Given the description of an element on the screen output the (x, y) to click on. 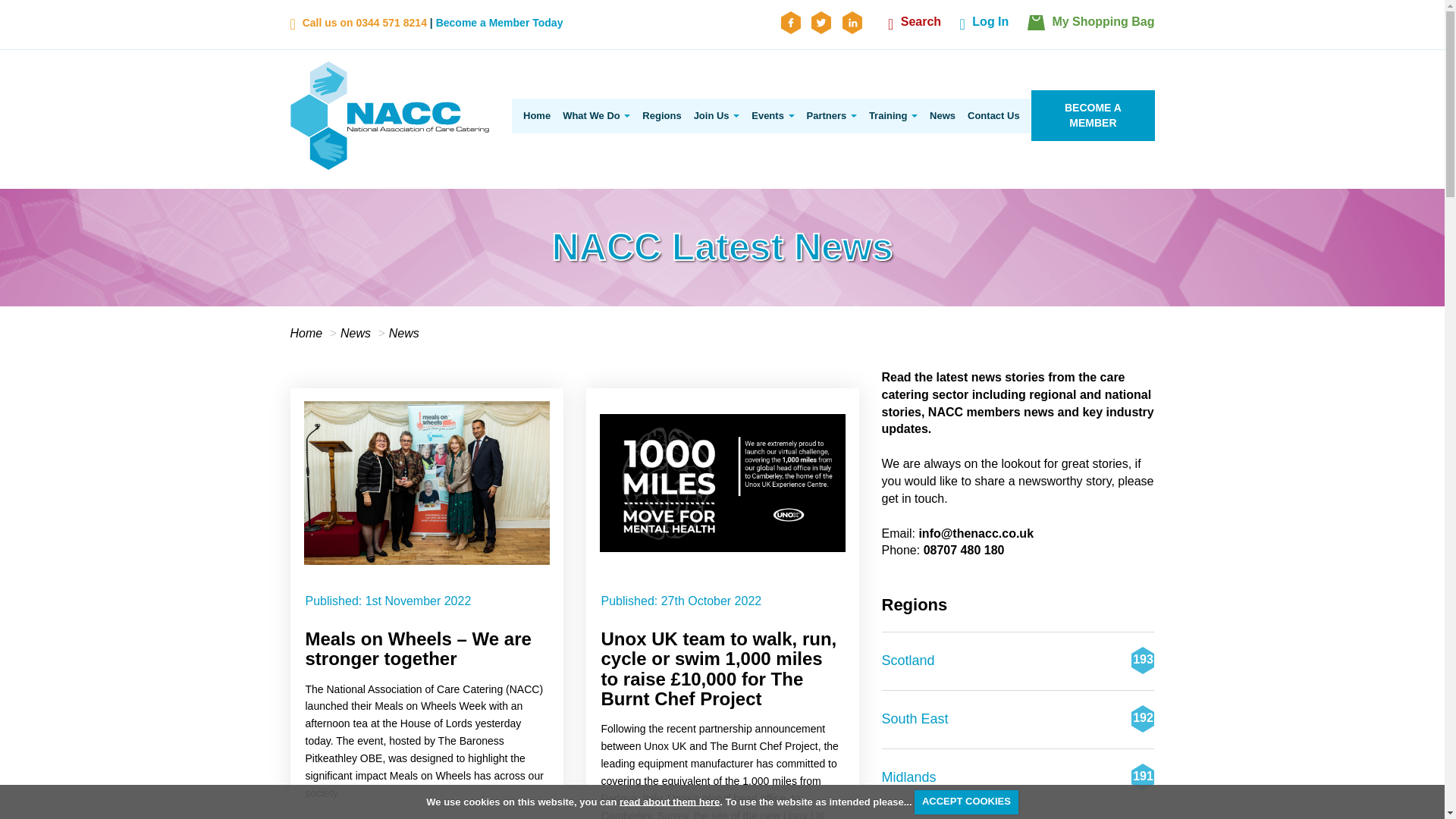
read about our cookies (669, 800)
Search (914, 25)
Join Us (716, 115)
Log In (984, 25)
Home (534, 115)
Regions (661, 115)
My Shopping Bag (1090, 25)
Become a Member Today (499, 22)
What We Do (596, 115)
